Given the description of an element on the screen output the (x, y) to click on. 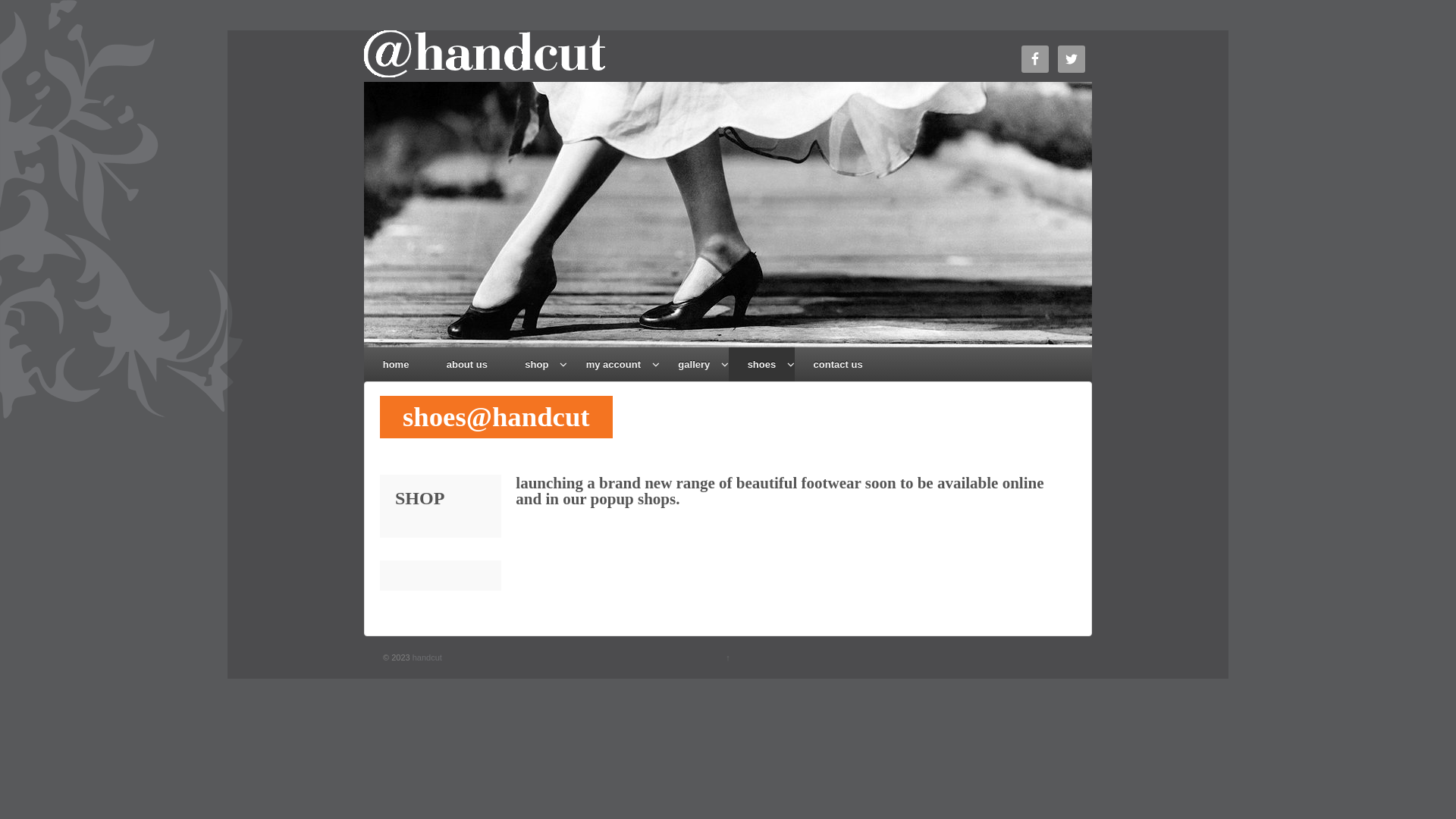
my account Element type: text (613, 364)
about us Element type: text (466, 364)
shop Element type: text (536, 364)
contact us Element type: text (837, 364)
gallery Element type: text (693, 364)
handcut Element type: text (426, 657)
home Element type: text (395, 364)
shoes Element type: text (761, 364)
